Given the description of an element on the screen output the (x, y) to click on. 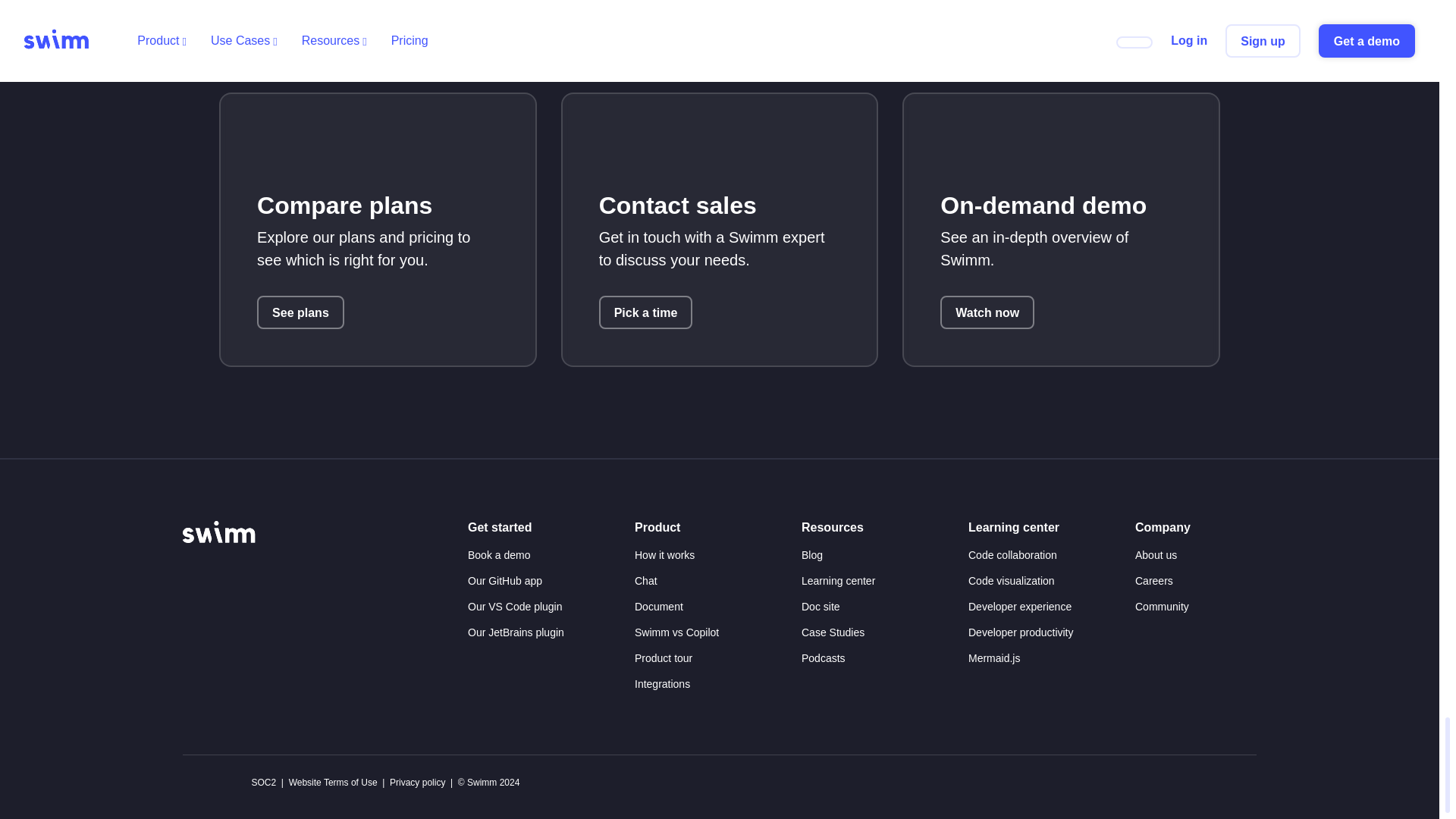
Swimm (219, 531)
